Given the description of an element on the screen output the (x, y) to click on. 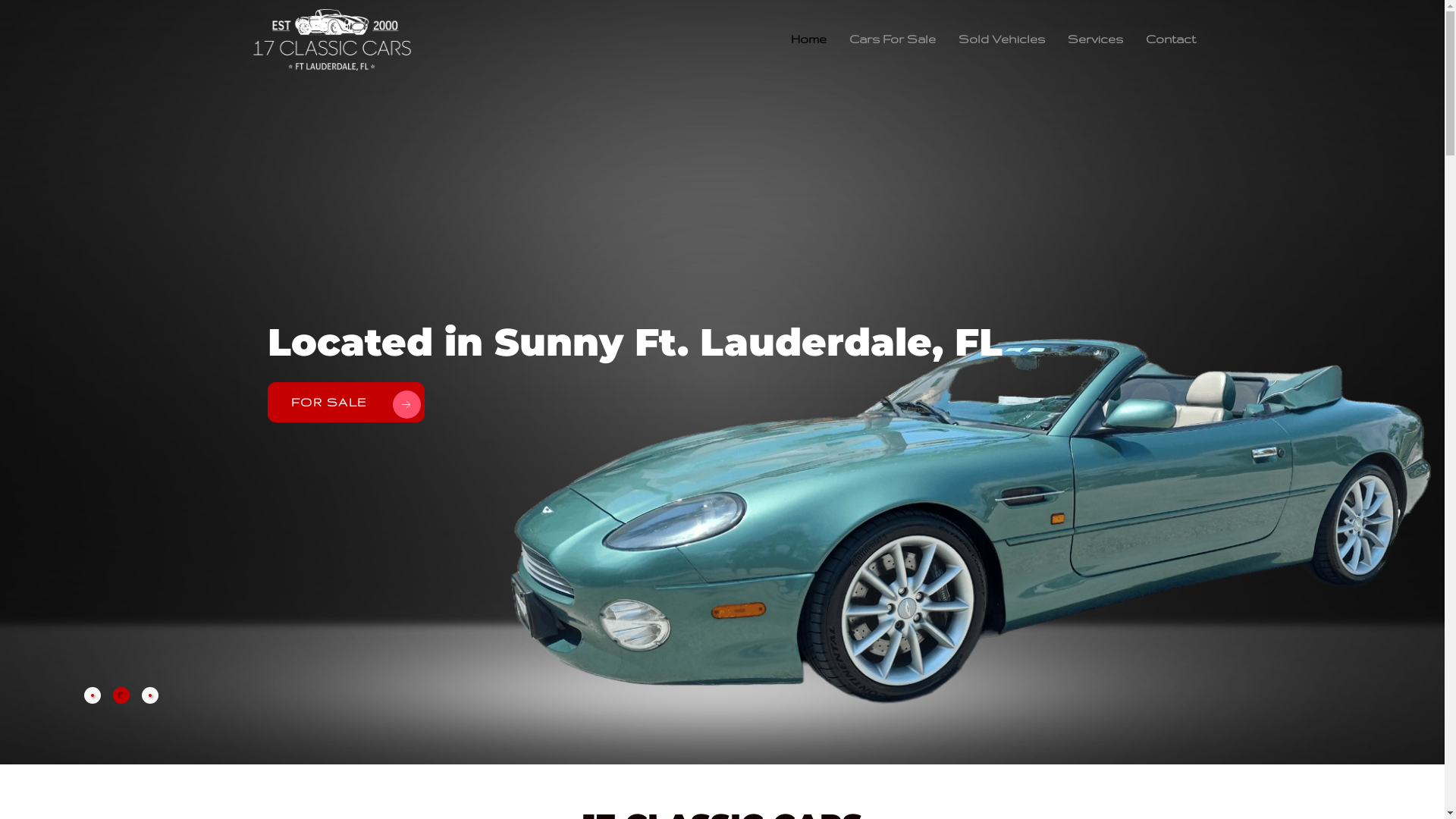
Services Element type: text (1095, 39)
Home Element type: text (808, 39)
Cars For Sale Element type: text (892, 39)
Contact Element type: text (1170, 39)
FOR SALE Element type: text (355, 402)
Sold Vehicles Element type: text (1001, 39)
FOR SALE Element type: text (324, 402)
